Given the description of an element on the screen output the (x, y) to click on. 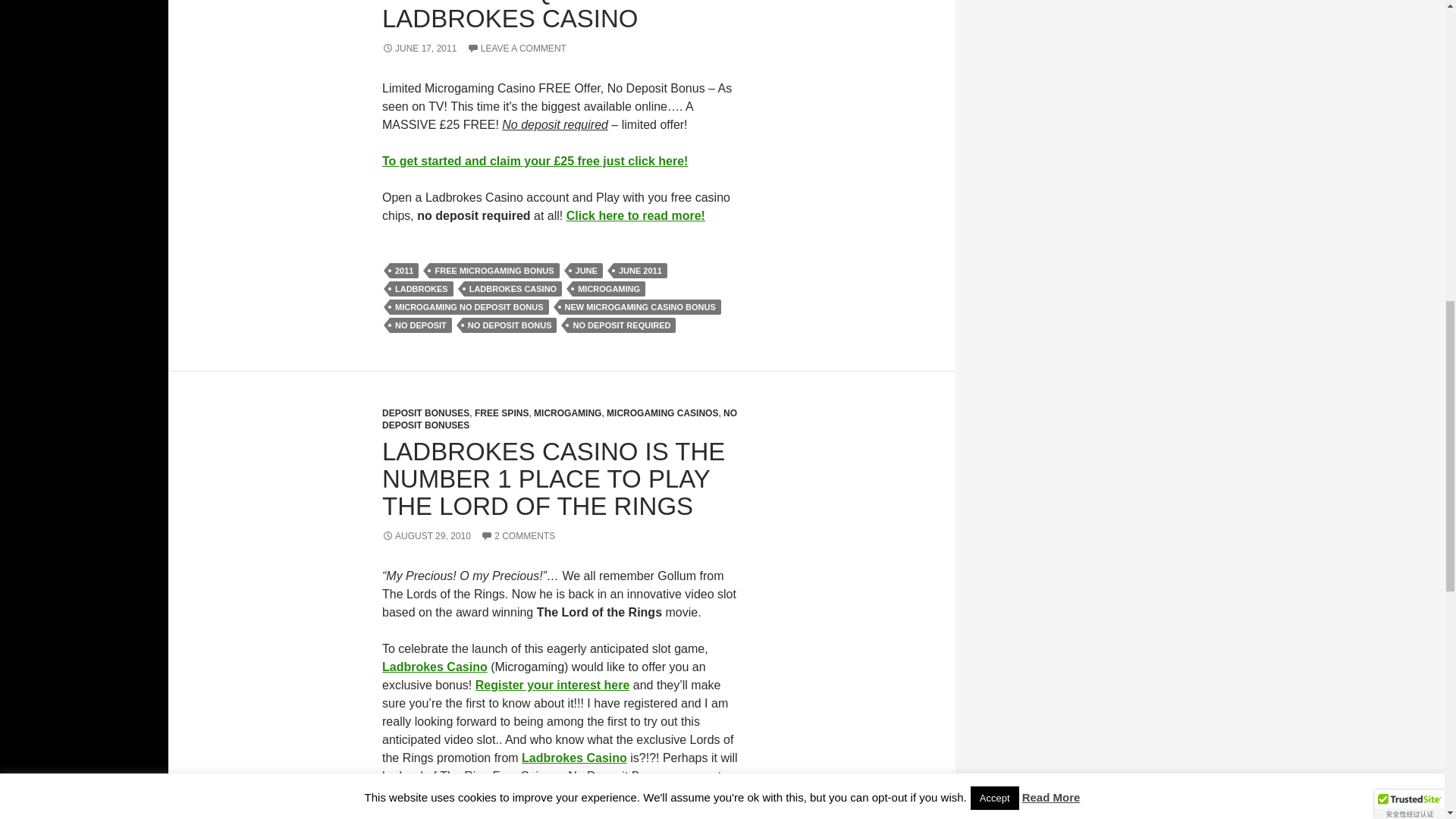
Ladbrokes Lords of The Rings (661, 793)
Ladbrokes Lords of The Rings (553, 684)
Ladbrokes Lords of The Rings (434, 666)
Ladbrokes Lords of The Rings (574, 757)
